Given the description of an element on the screen output the (x, y) to click on. 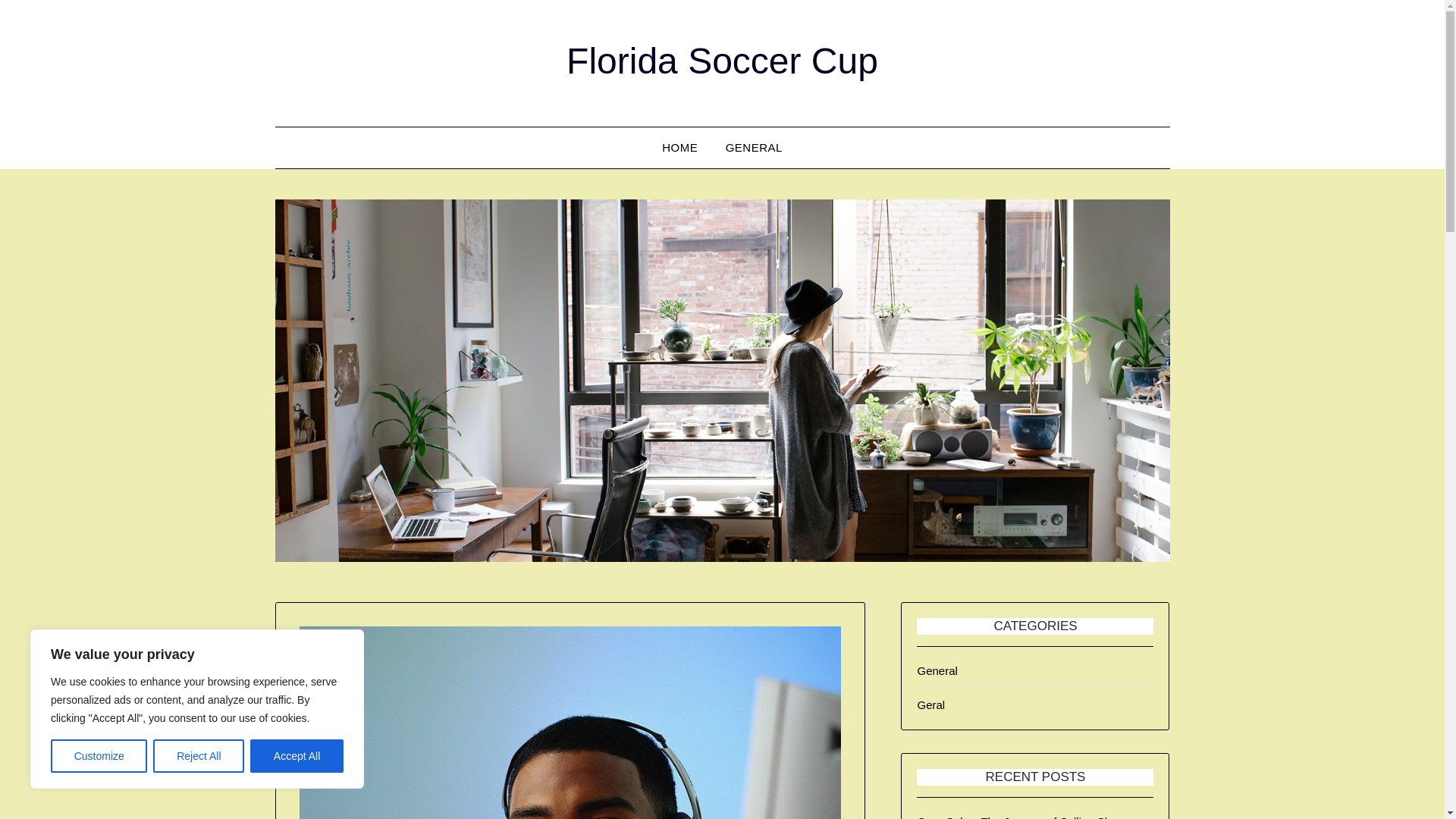
Customize (98, 756)
Cozy Sales: The Journey of Selling Sherpa Blankets Online (1025, 816)
Reject All (198, 756)
Florida Soccer Cup (721, 60)
GENERAL (753, 147)
General (936, 670)
Geral (930, 704)
Accept All (296, 756)
HOME (679, 147)
